Given the description of an element on the screen output the (x, y) to click on. 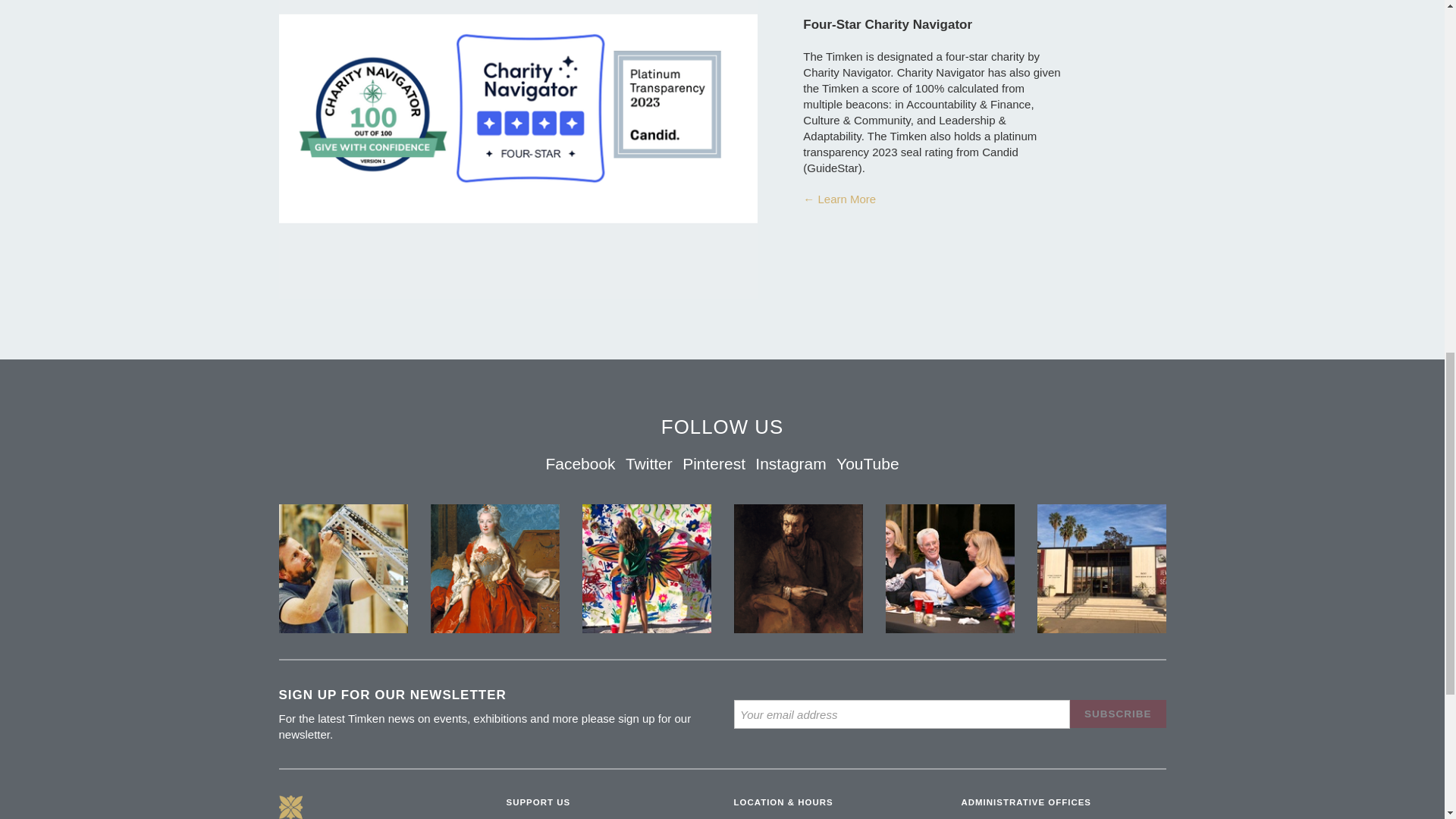
Twitter 1 (494, 568)
Twitter 2 (949, 568)
Instagram 1 (646, 568)
Facebook 1 (342, 568)
Subscribe (1118, 714)
Facebook 2 (797, 568)
Instagram 2 (1100, 568)
